Given the description of an element on the screen output the (x, y) to click on. 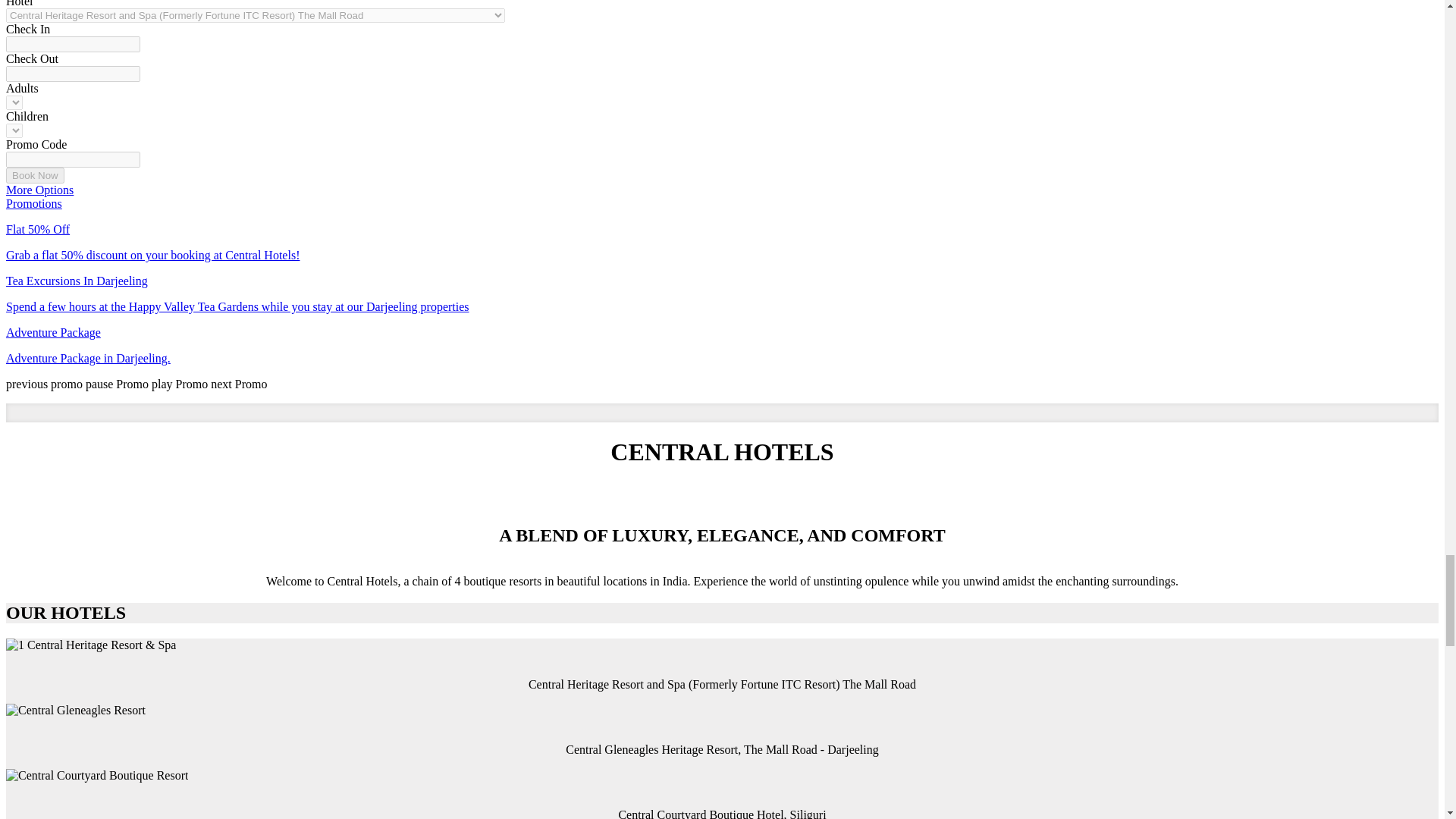
Book Now (34, 175)
More Options (39, 189)
Promotions (33, 203)
Book Now (34, 175)
